Given the description of an element on the screen output the (x, y) to click on. 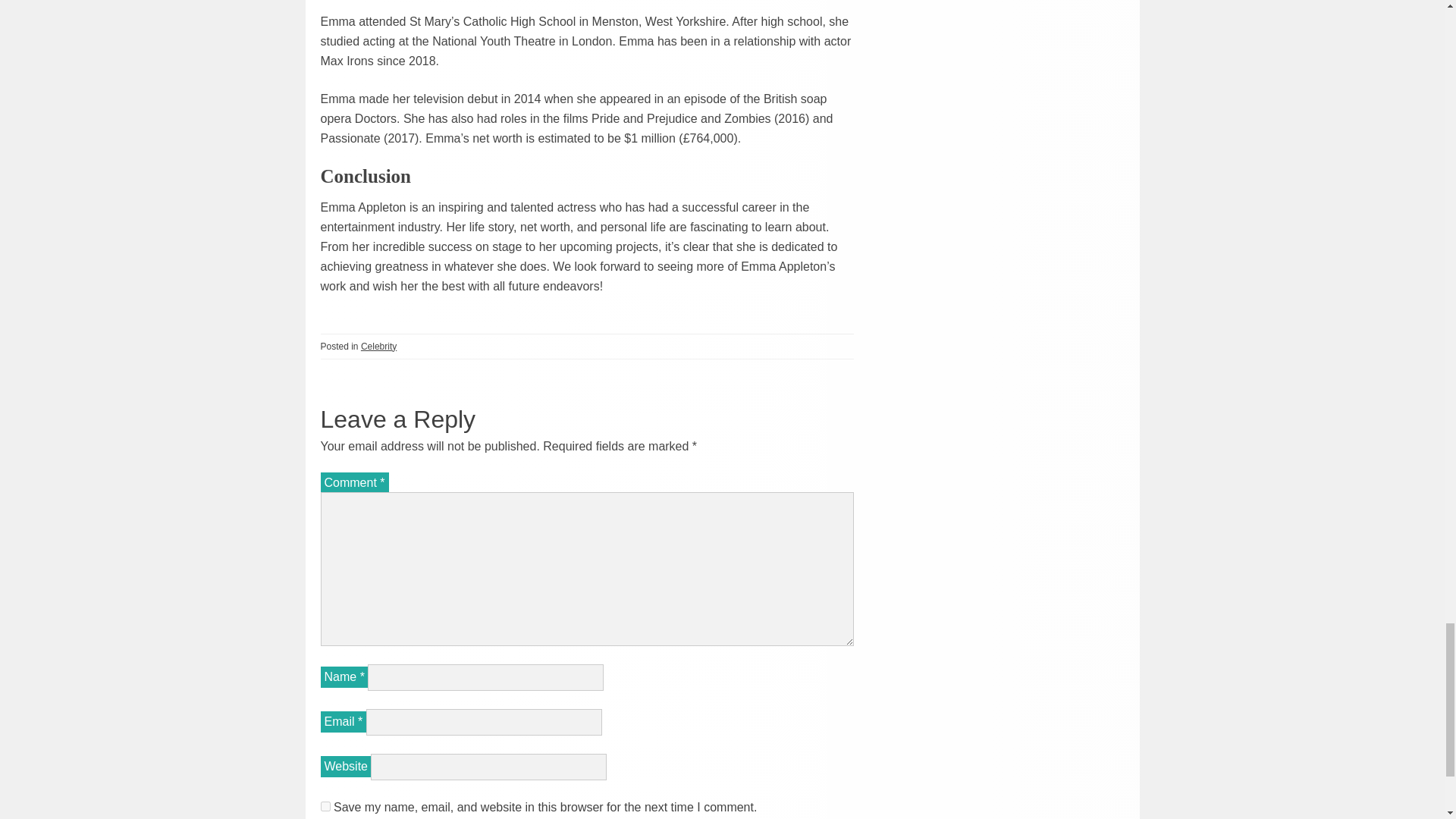
yes (325, 805)
Celebrity (378, 346)
